Given the description of an element on the screen output the (x, y) to click on. 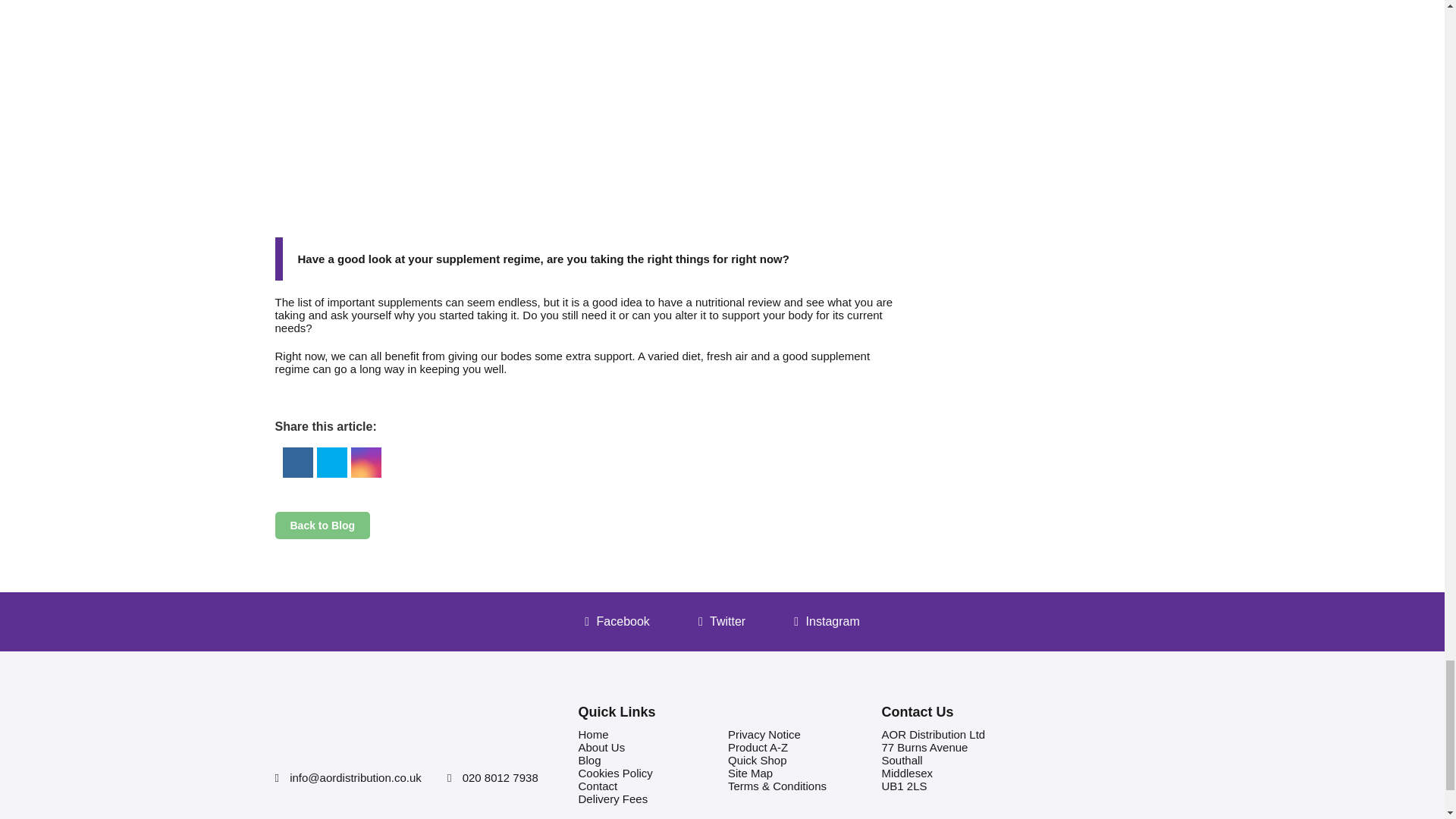
Instagram (366, 461)
Facebook (297, 461)
Twitter (331, 461)
